Given the description of an element on the screen output the (x, y) to click on. 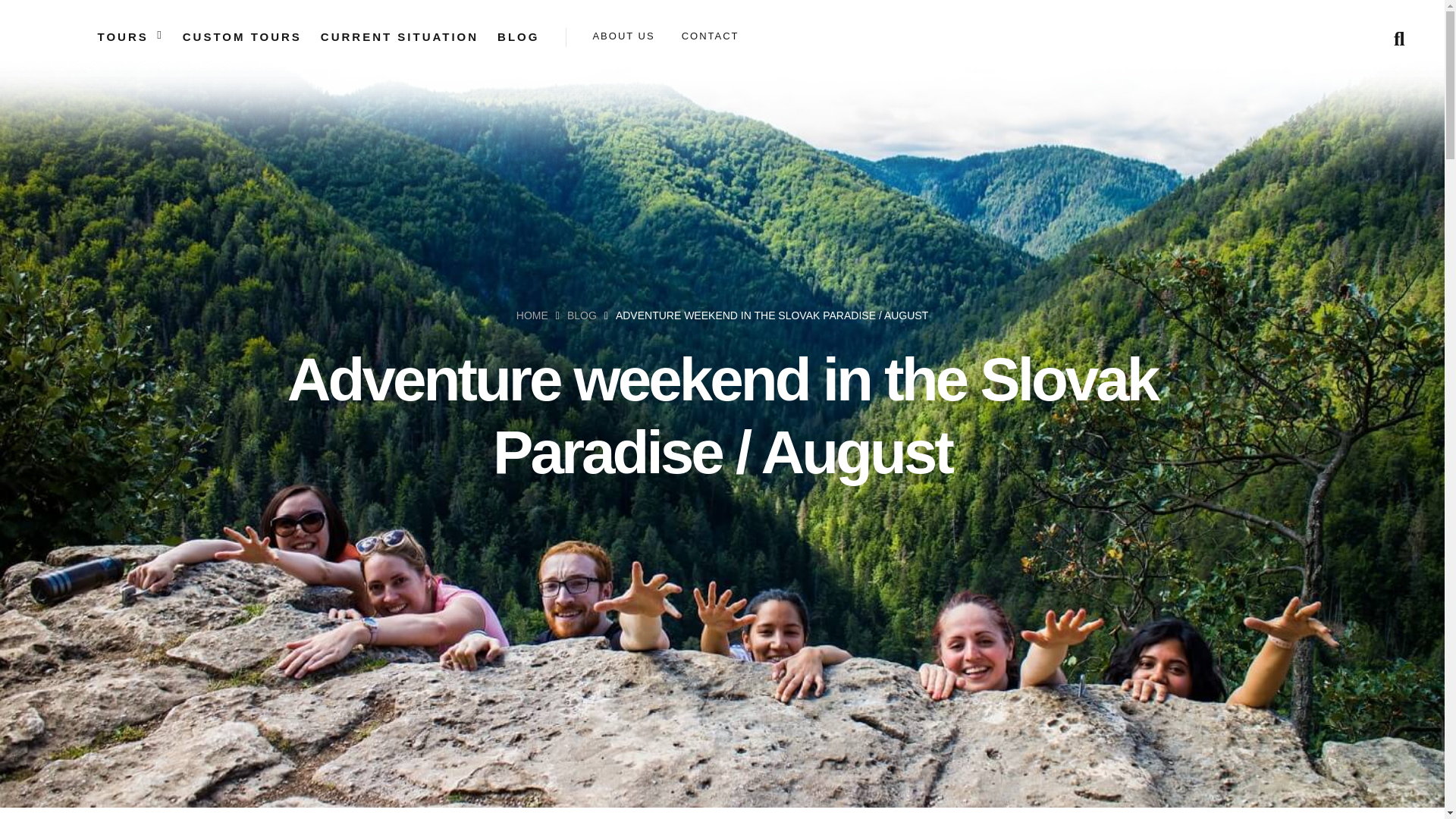
HOME (532, 315)
CONTACT (710, 35)
TOURS (122, 36)
BLOG (581, 315)
BLOG (517, 36)
CURRENT SITUATION (399, 36)
CUSTOM TOURS (242, 36)
ABOUT US (622, 35)
